Given the description of an element on the screen output the (x, y) to click on. 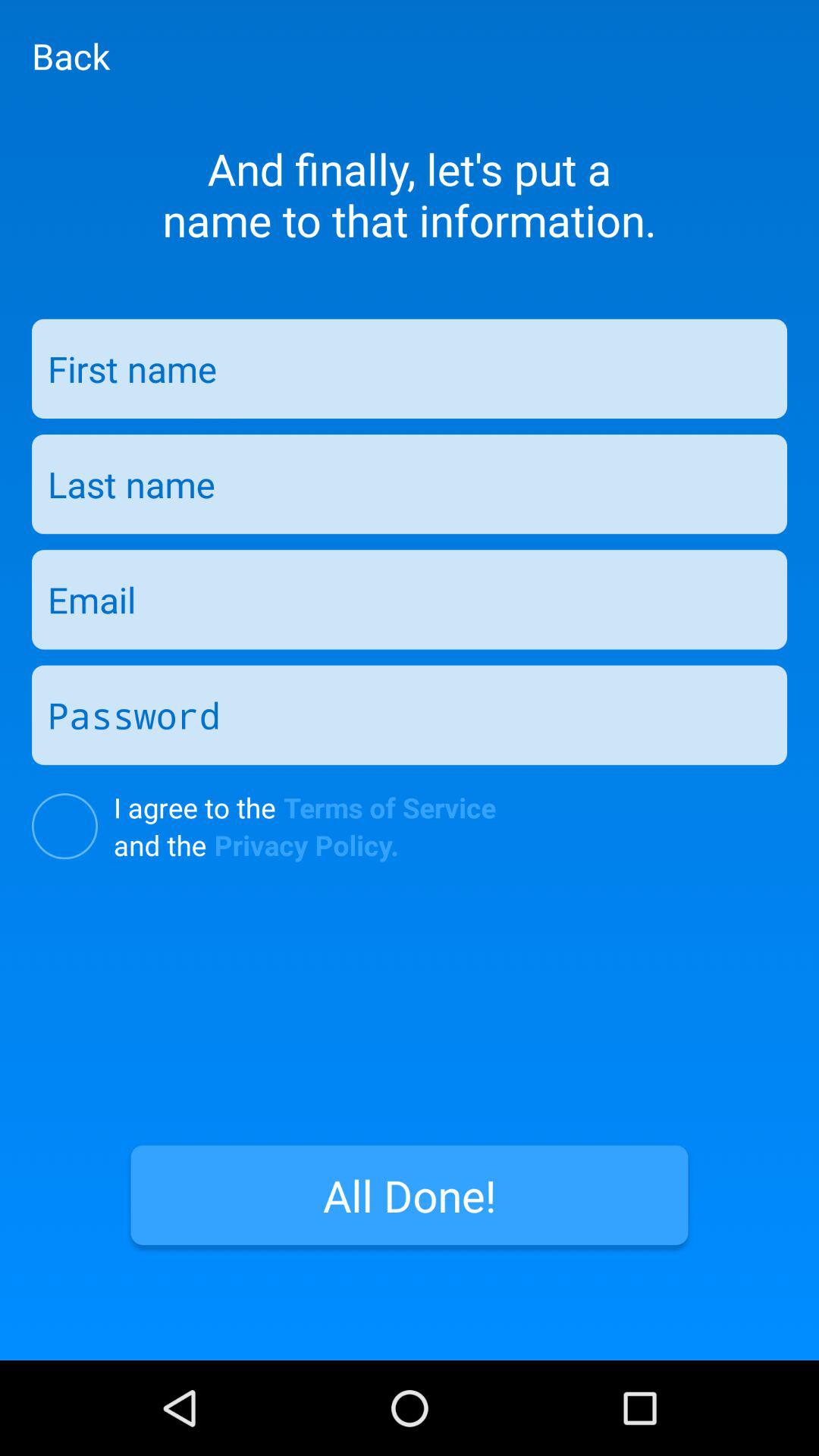
the type the last name (409, 484)
